Given the description of an element on the screen output the (x, y) to click on. 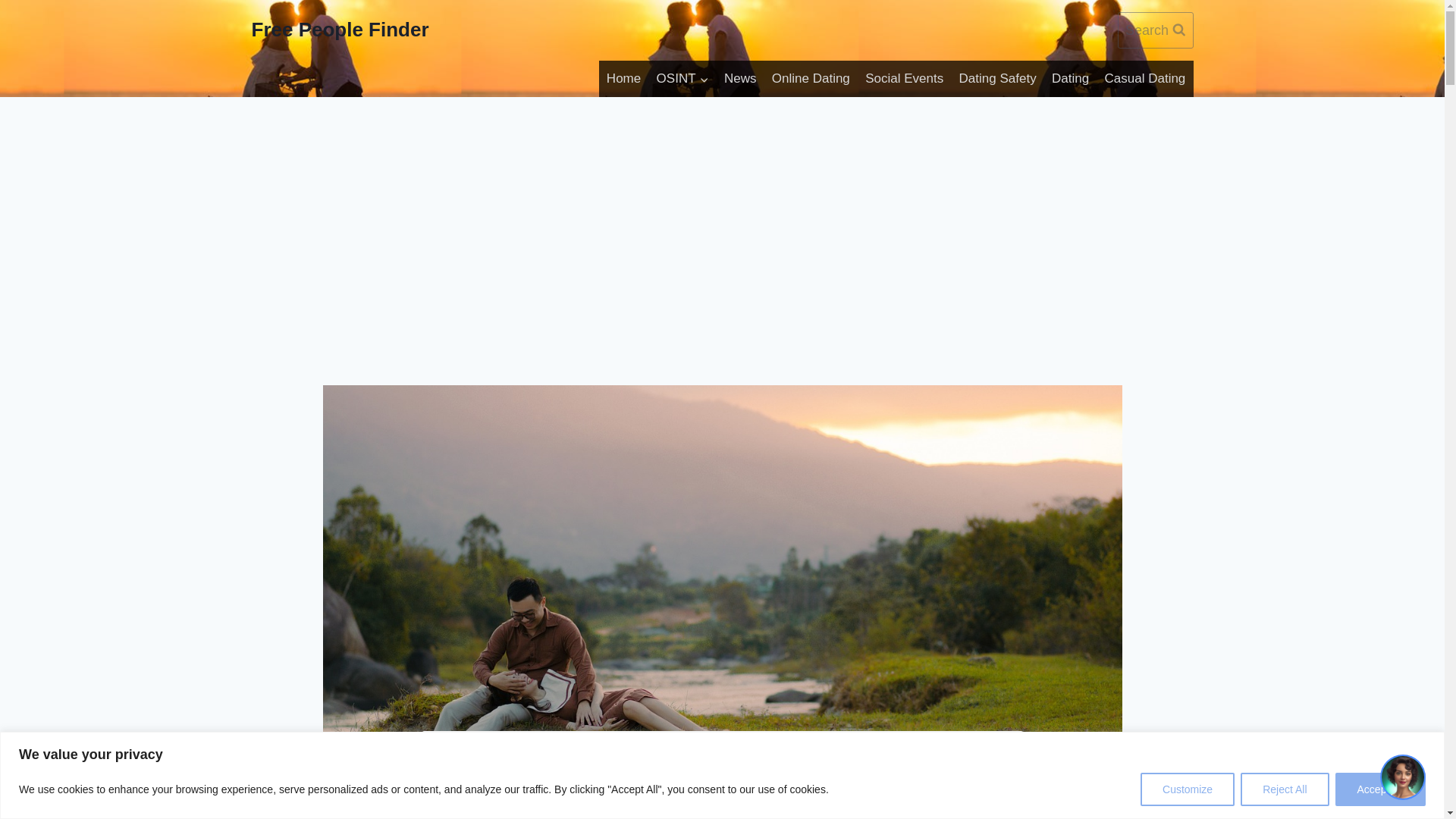
Casual Dating (1144, 78)
Customize (1187, 788)
News (740, 78)
OSINT (681, 78)
Social Events (903, 78)
Search (1155, 30)
DATING (552, 761)
Accept All (1380, 788)
Home (623, 78)
DATING SAFETY (618, 761)
Online Dating (810, 78)
Dating (1070, 78)
Dating Safety (996, 78)
ONLINE DATING (703, 761)
